Given the description of an element on the screen output the (x, y) to click on. 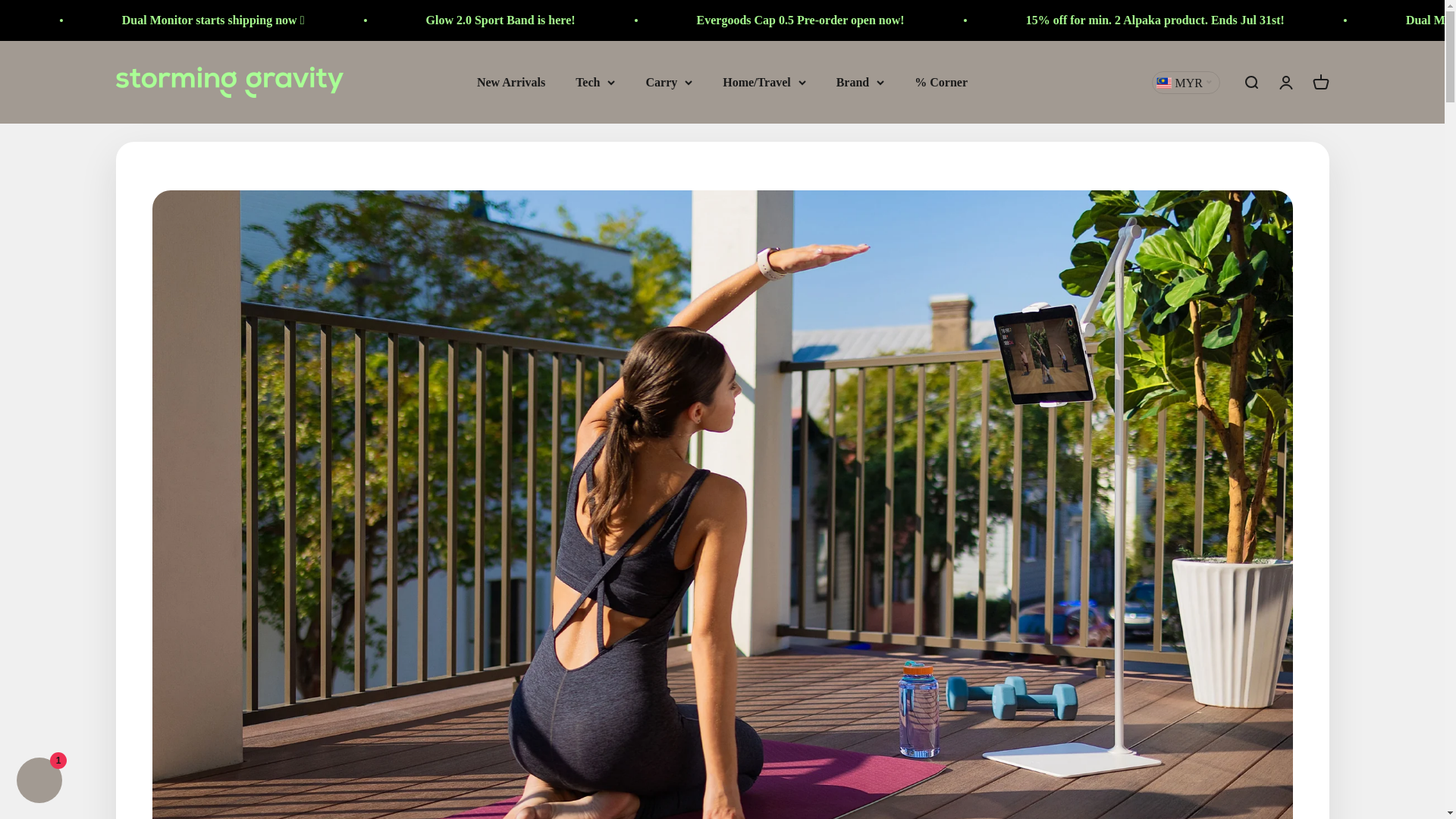
Glow 2.0 Sport Band is here! (743, 19)
Evergoods Cap 0.5 Pre-order open now! (1043, 19)
Shopify online store chat (38, 781)
